Given the description of an element on the screen output the (x, y) to click on. 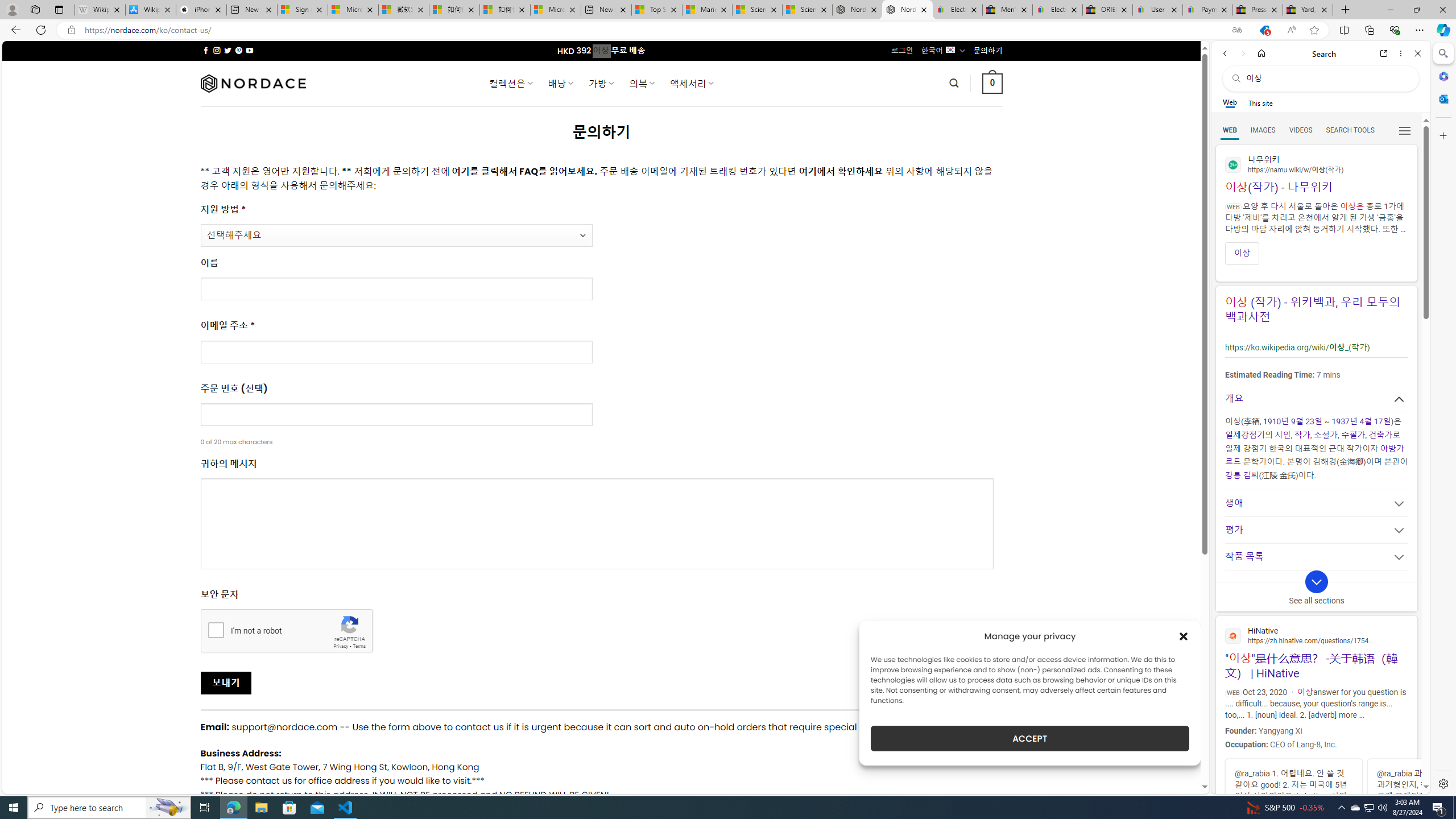
See all sections (1315, 590)
Search the web (1326, 78)
Founder: Yangyang Xi (1315, 729)
